Given the description of an element on the screen output the (x, y) to click on. 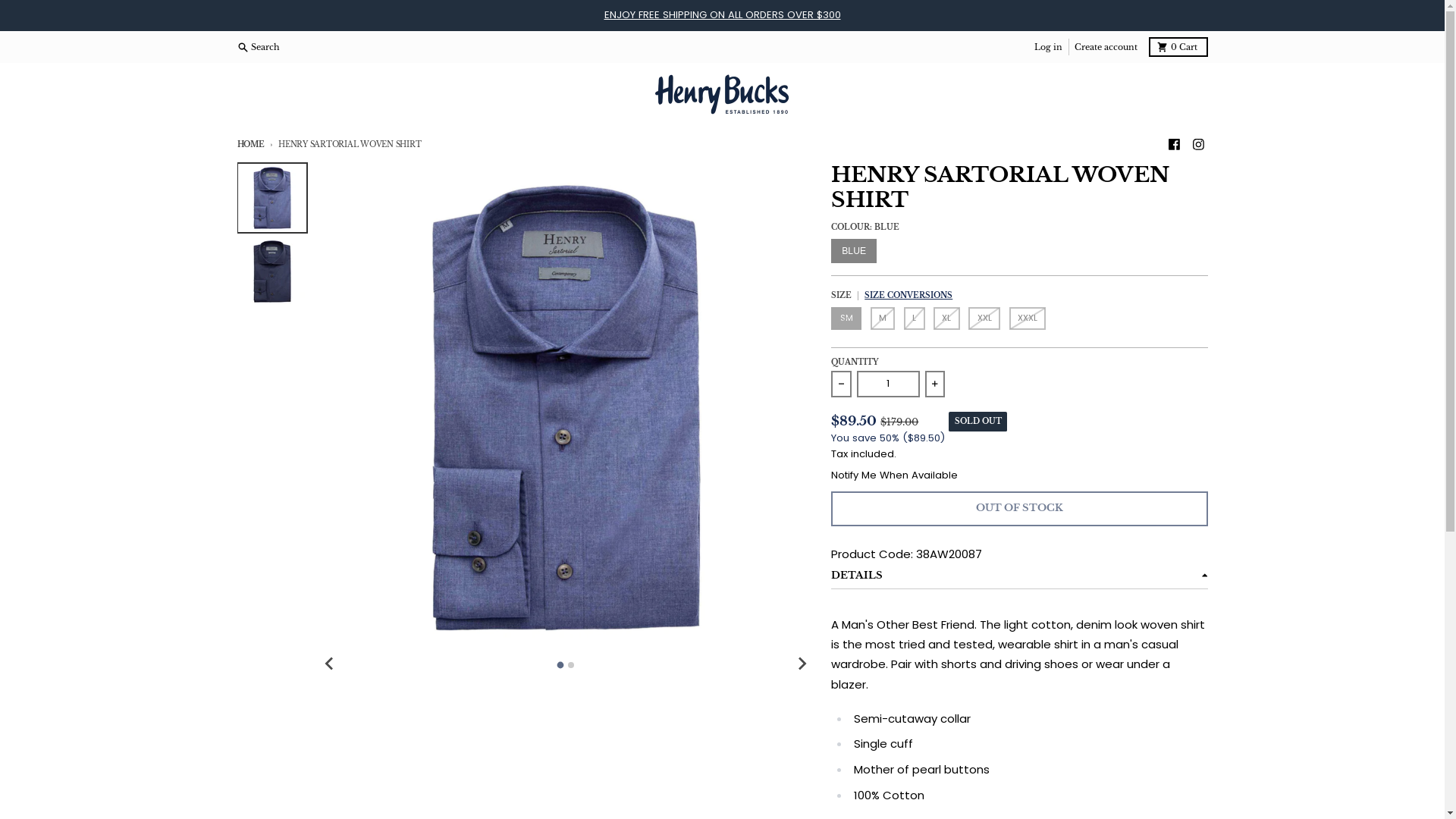
SIZE CONVERSIONS Element type: text (908, 296)
Decrease quantity for HENRY SARTORIAL WOVEN SHIRT Element type: text (840, 383)
HOME Element type: text (249, 144)
Facebook - Henry Bucks Element type: hover (1173, 143)
Notify Me When Available Element type: text (894, 474)
Create account Element type: text (1105, 47)
Instagram - Henry Bucks Element type: hover (1198, 143)
ENJOY FREE SHIPPING ON ALL ORDERS OVER $300 Element type: text (722, 15)
Search Element type: text (259, 47)
0
Cart Element type: text (1177, 47)
Skip to product information Element type: text (236, 161)
Increase quantity for HENRY SARTORIAL WOVEN SHIRT Element type: text (934, 383)
Log in Element type: text (1048, 47)
OUT OF STOCK Element type: text (1019, 508)
BLUE Element type: text (853, 250)
